Given the description of an element on the screen output the (x, y) to click on. 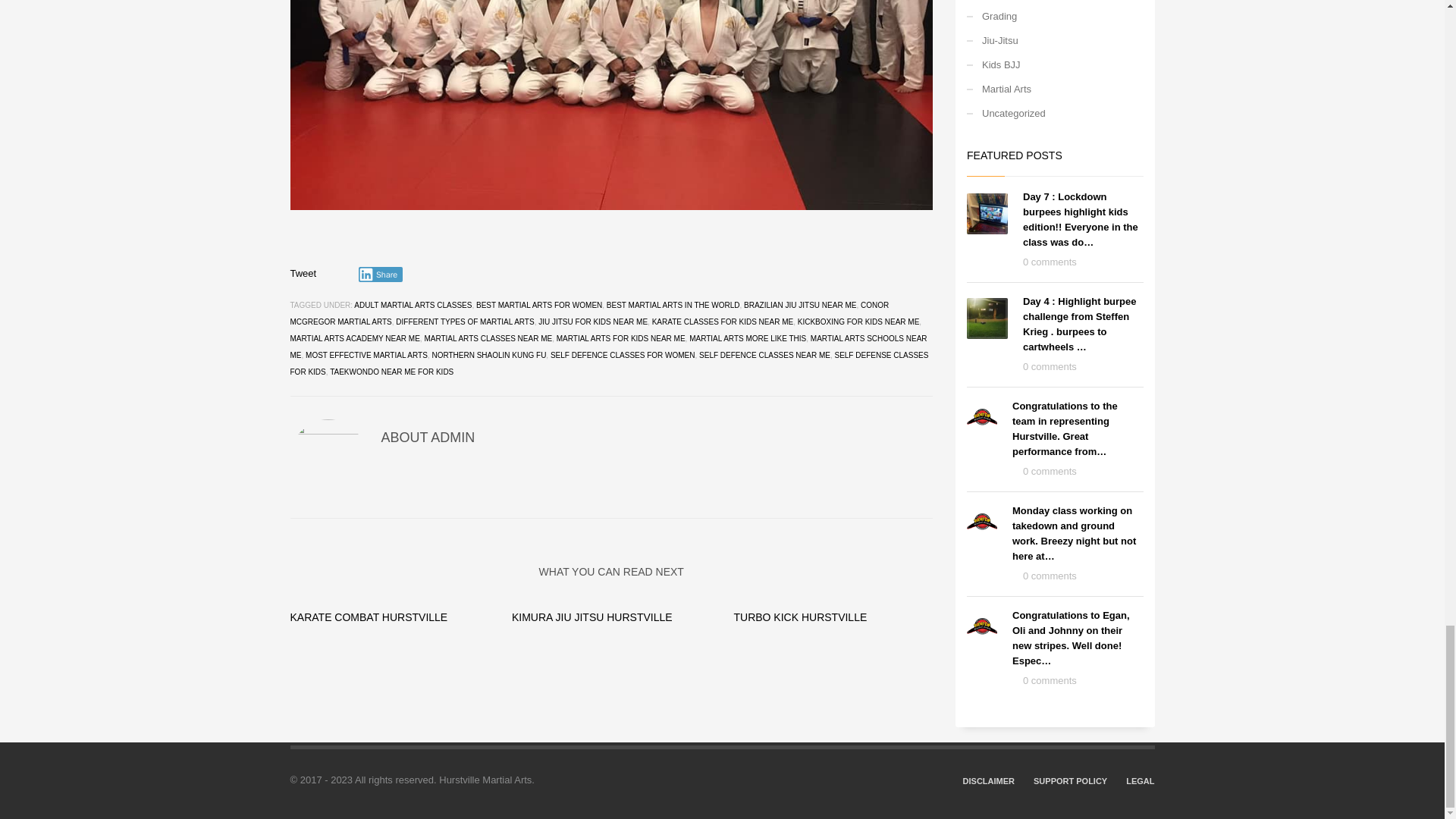
BEST MARTIAL ARTS FOR WOMEN (539, 305)
ADULT MARTIAL ARTS CLASSES (412, 305)
Share (380, 273)
BEST MARTIAL ARTS IN THE WORLD (673, 305)
Tweet (302, 273)
BRAZILIAN JIU JITSU NEAR ME (800, 305)
